Given the description of an element on the screen output the (x, y) to click on. 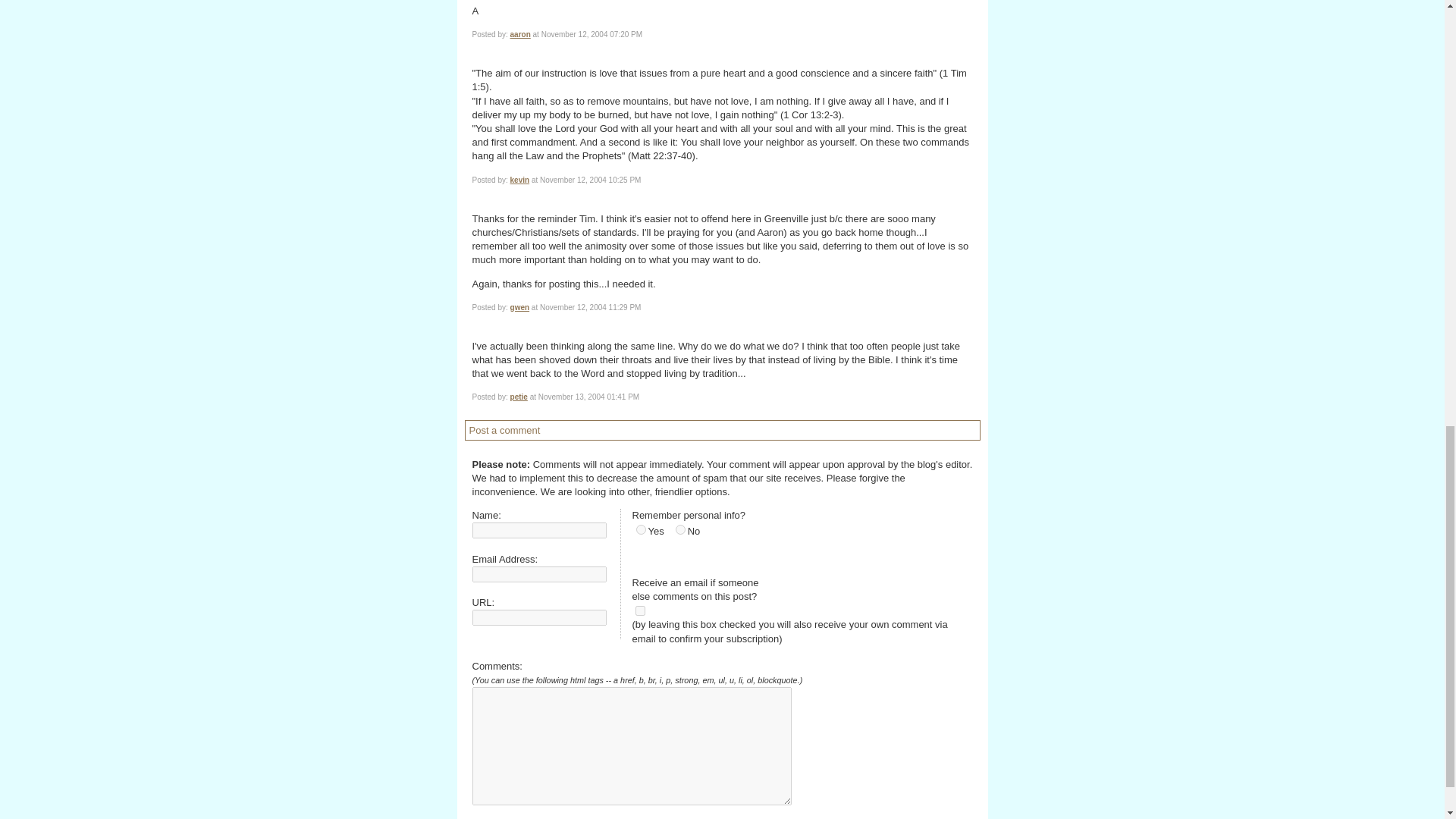
aaron (521, 34)
gwen (520, 307)
petie (519, 397)
kevin (520, 180)
